Given the description of an element on the screen output the (x, y) to click on. 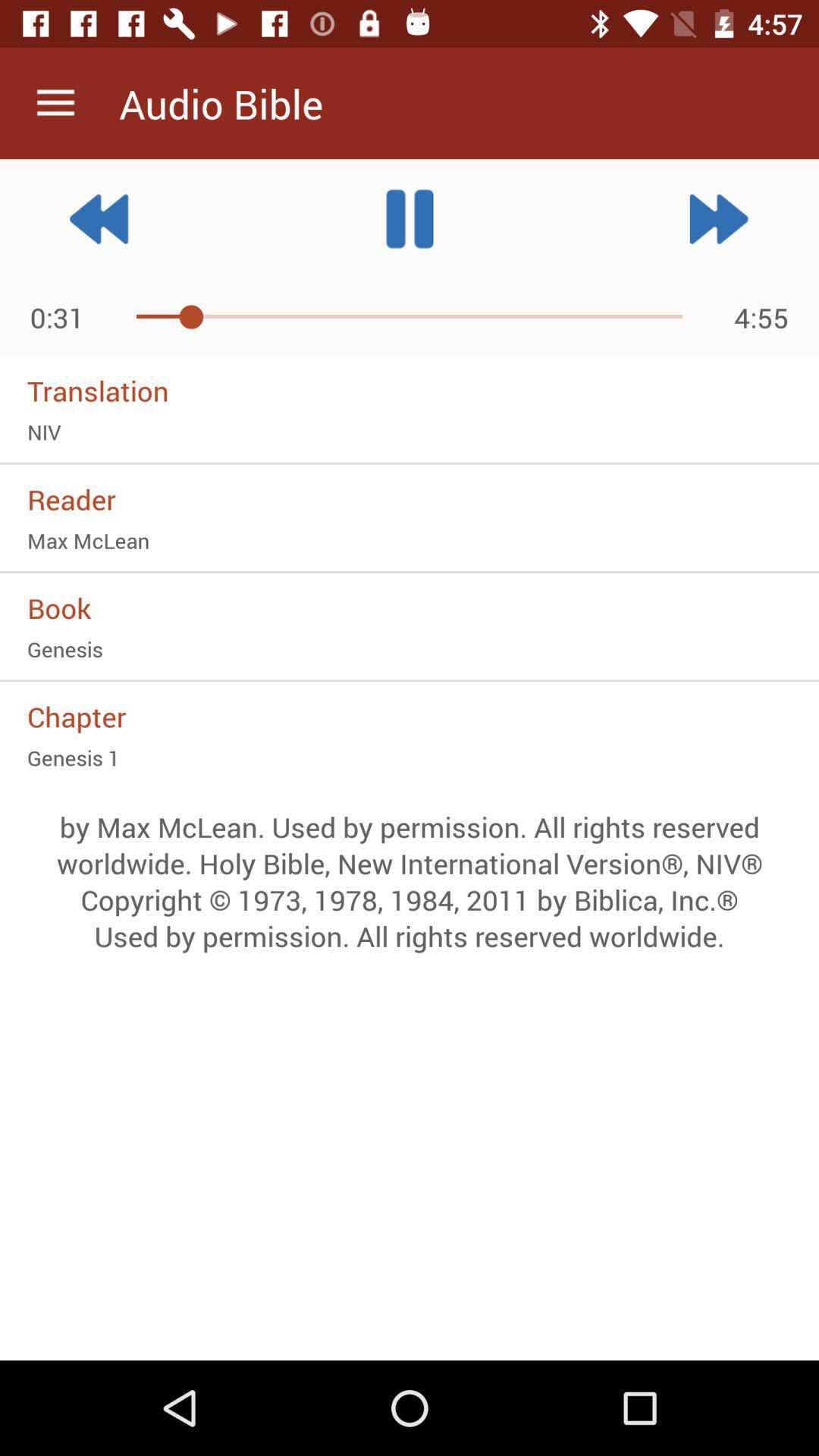
open the reader icon (409, 499)
